Given the description of an element on the screen output the (x, y) to click on. 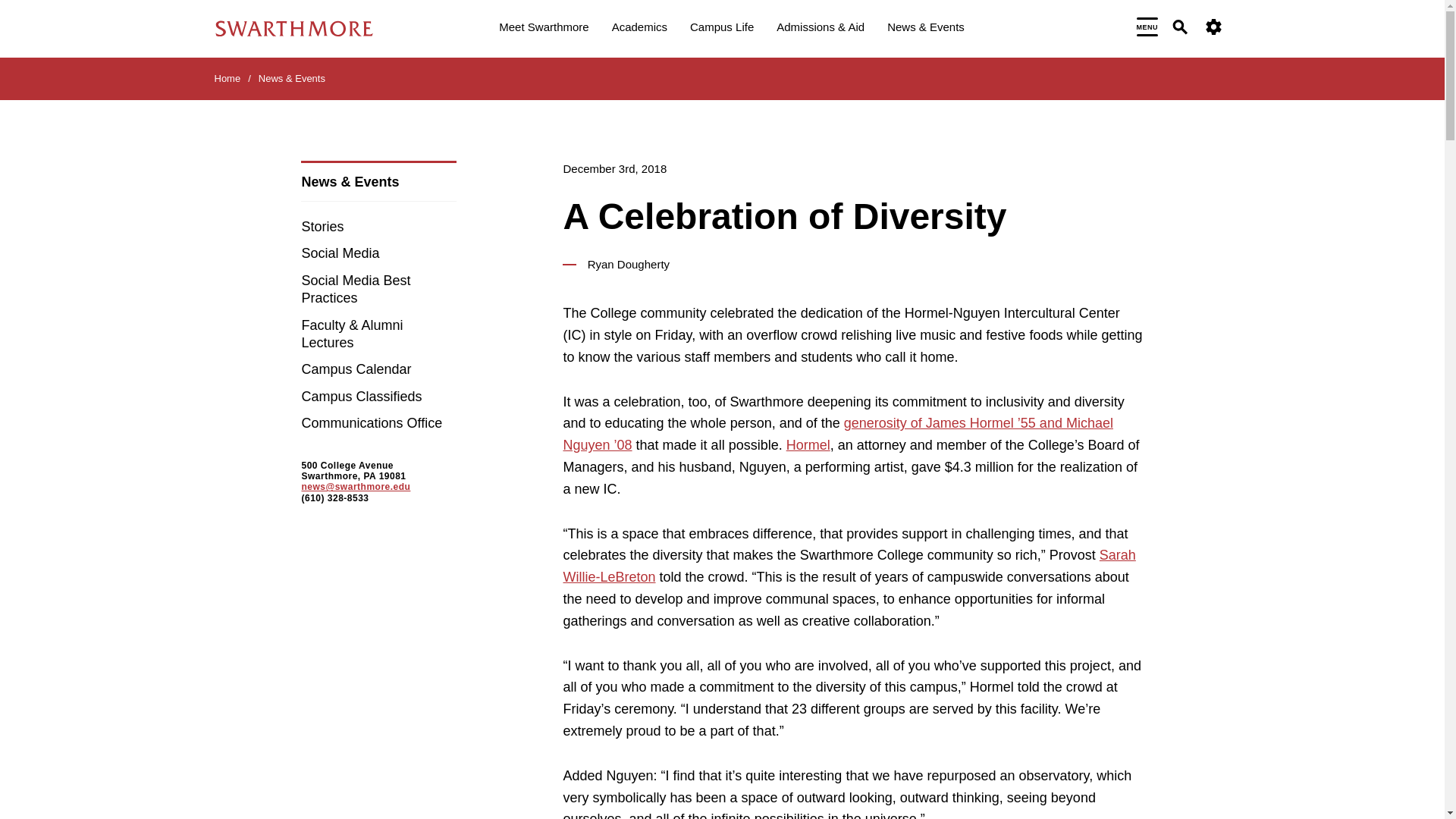
Academics (638, 28)
Meet Swarthmore (543, 28)
Campus Life (722, 28)
